Given the description of an element on the screen output the (x, y) to click on. 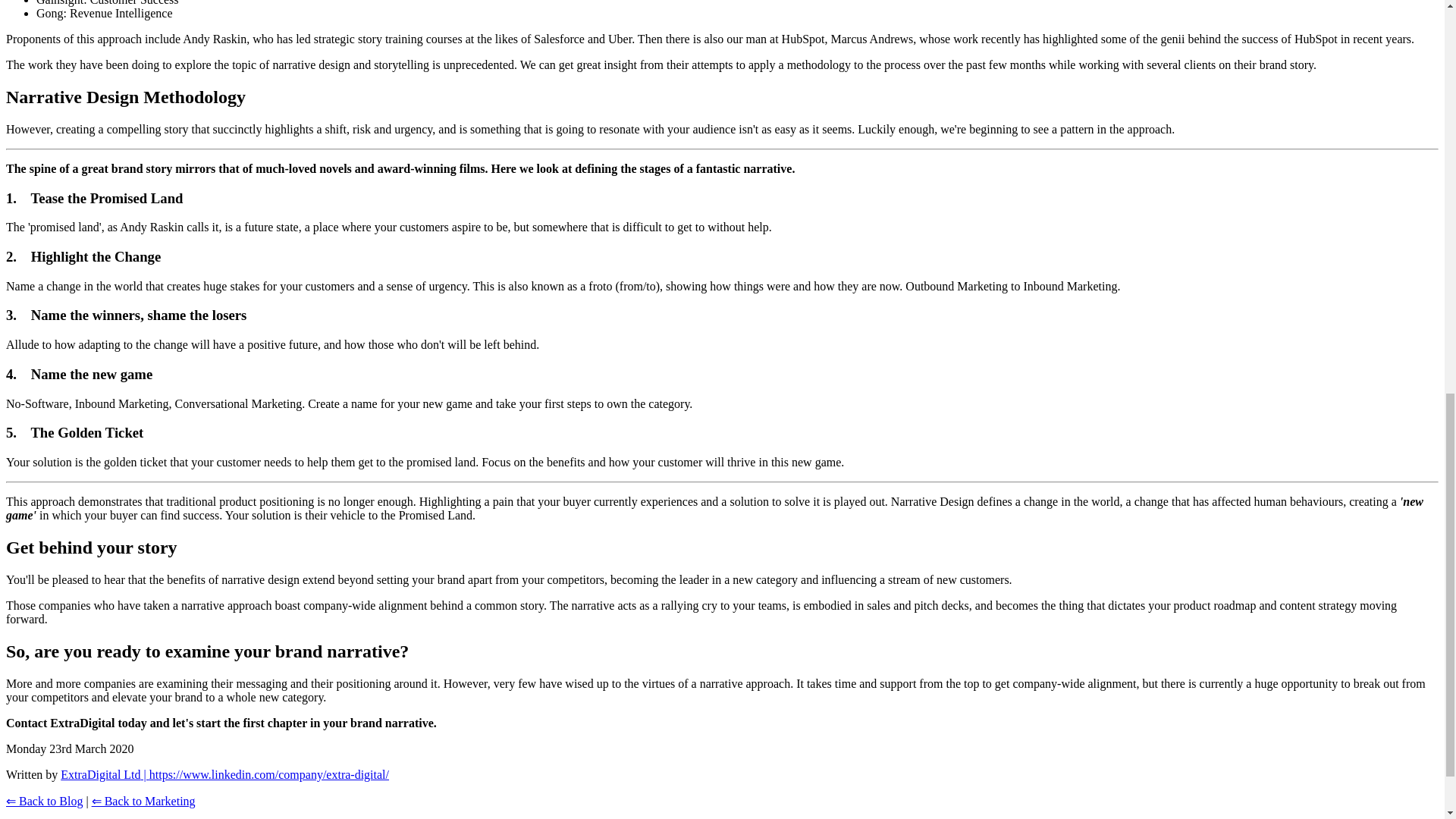
Marketing (143, 800)
Blog (43, 800)
